Given the description of an element on the screen output the (x, y) to click on. 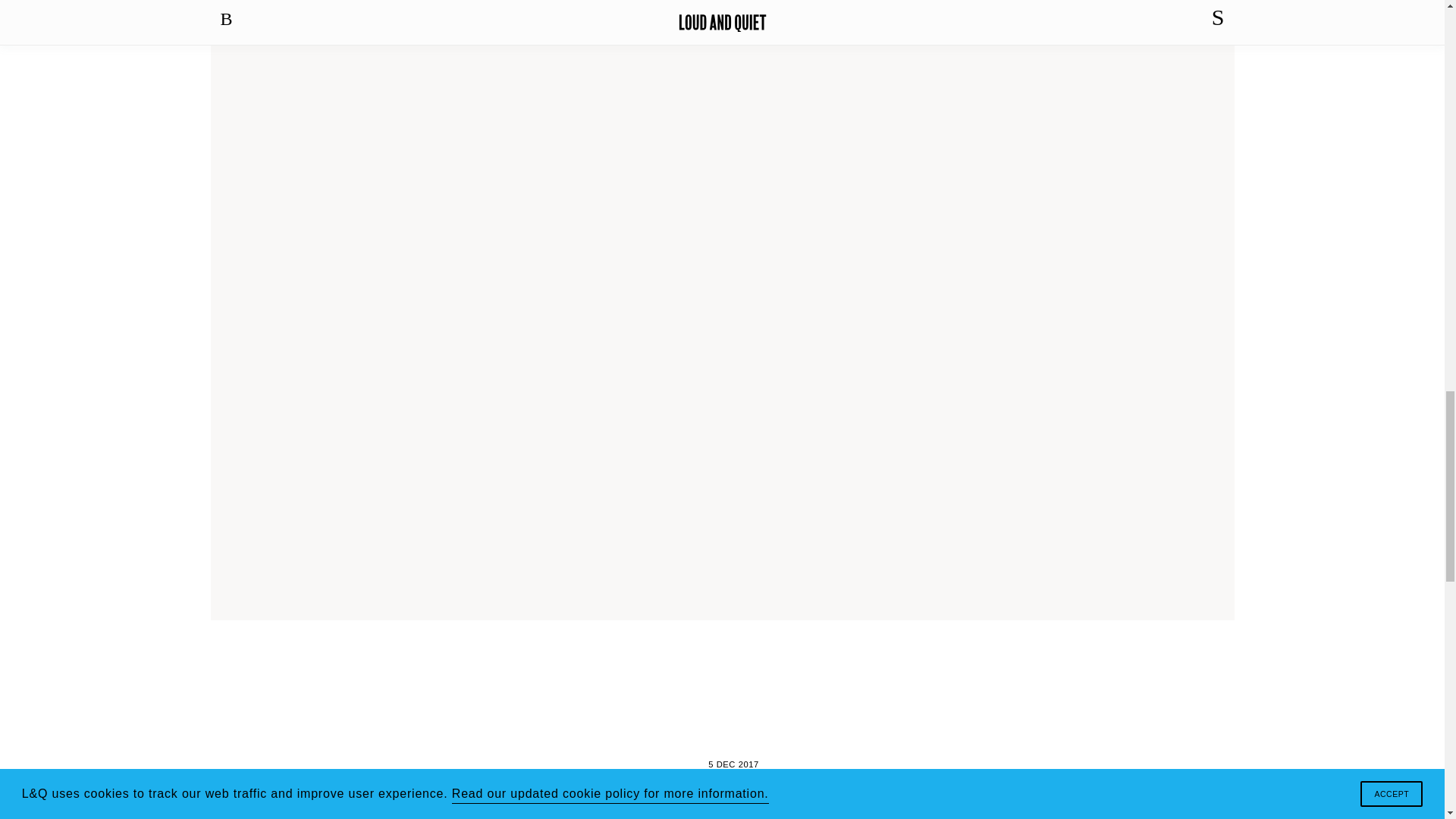
ALIEN STADIUM (733, 804)
